Given the description of an element on the screen output the (x, y) to click on. 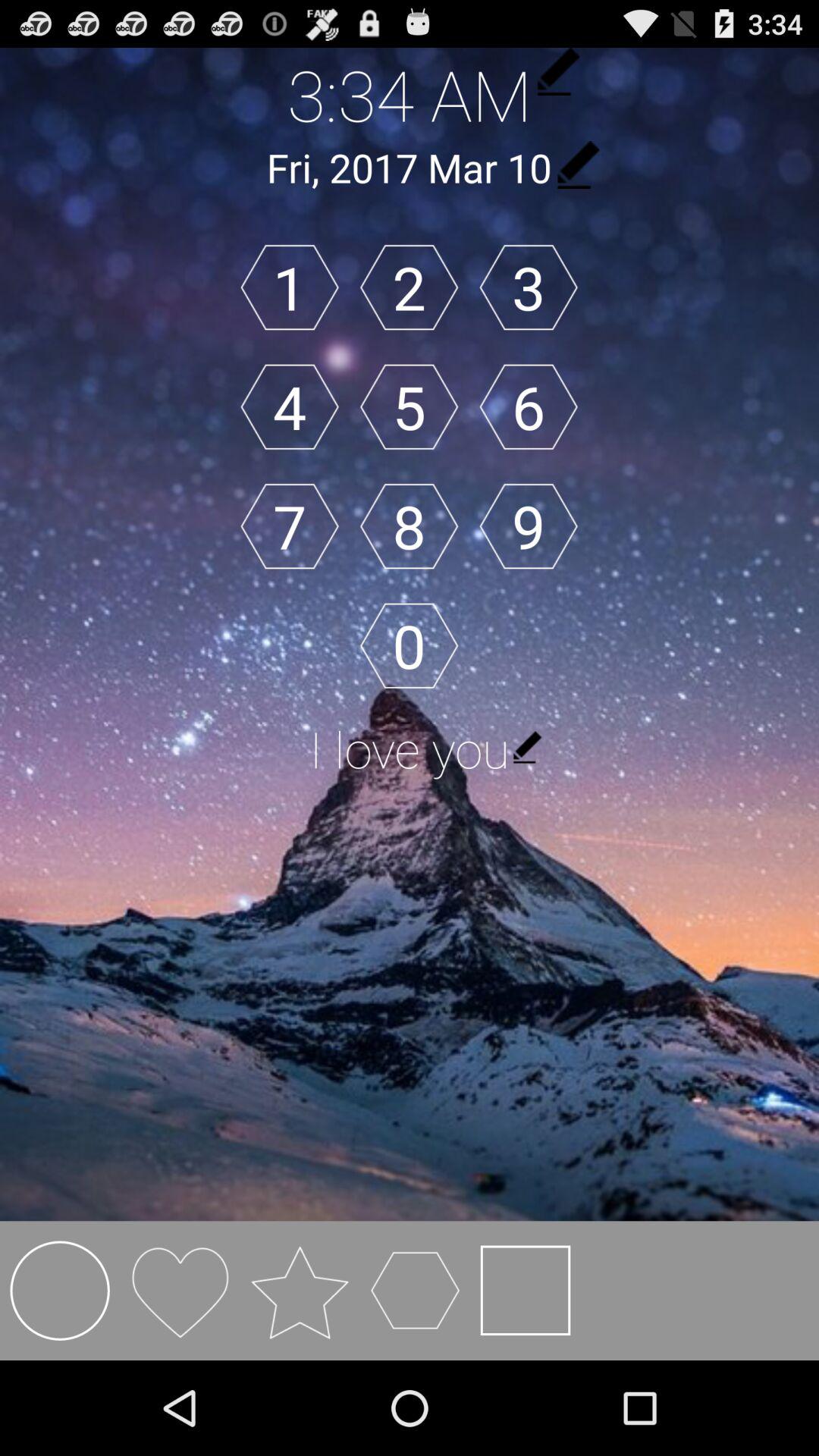
tap item above 9 icon (528, 406)
